Given the description of an element on the screen output the (x, y) to click on. 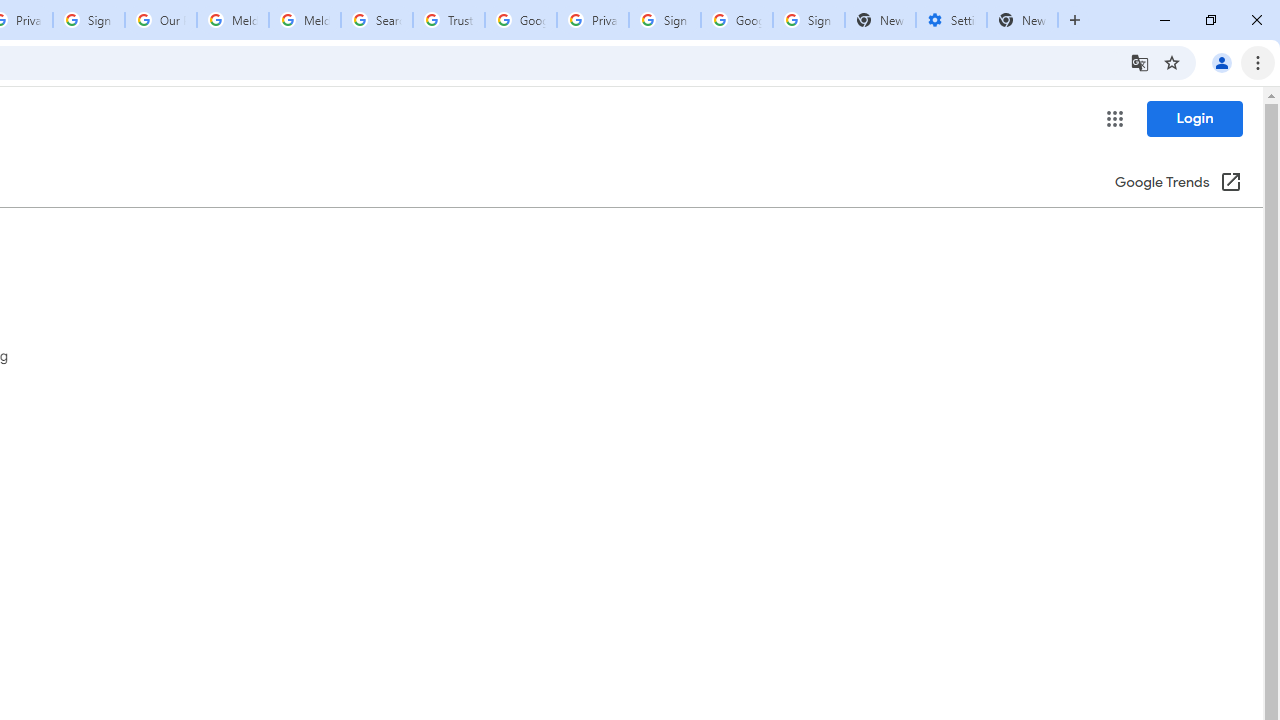
Sign in - Google Accounts (808, 20)
Trusted Information and Content - Google Safety Center (449, 20)
Sign in - Google Accounts (664, 20)
Sign in - Google Accounts (88, 20)
Settings - Addresses and more (951, 20)
